Given the description of an element on the screen output the (x, y) to click on. 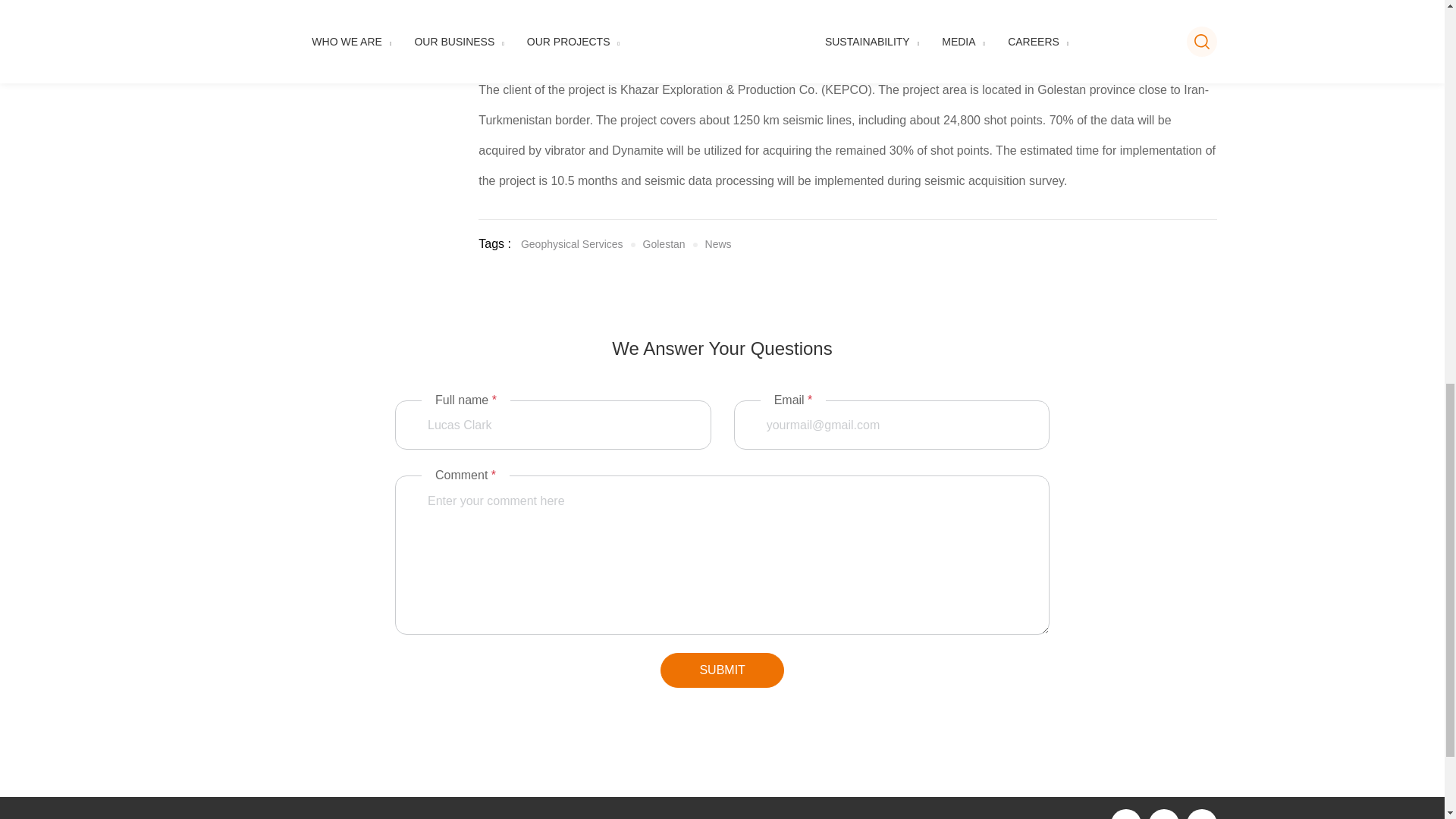
Linkedin (626, 247)
Youtube (1125, 814)
Instagram (1201, 814)
